Given the description of an element on the screen output the (x, y) to click on. 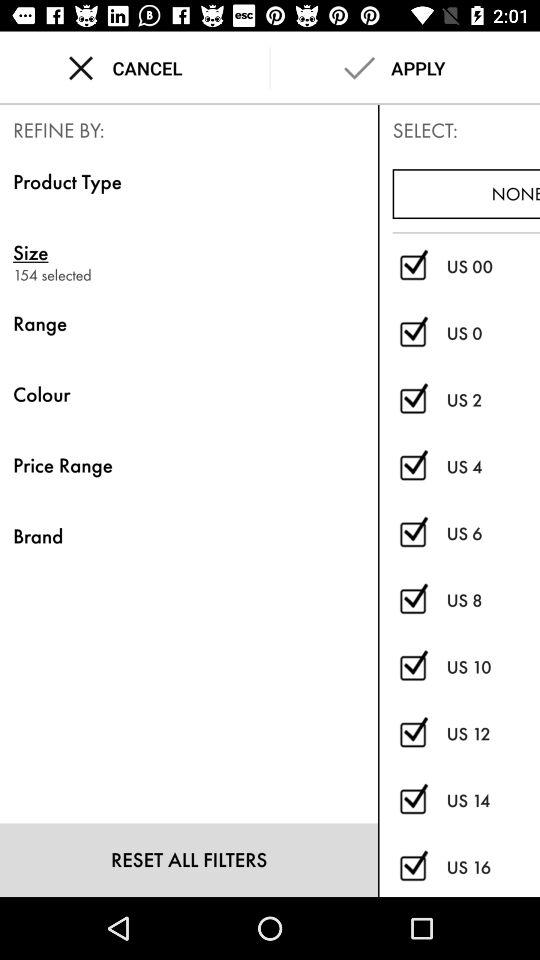
us 12 checkbox (412, 734)
